Given the description of an element on the screen output the (x, y) to click on. 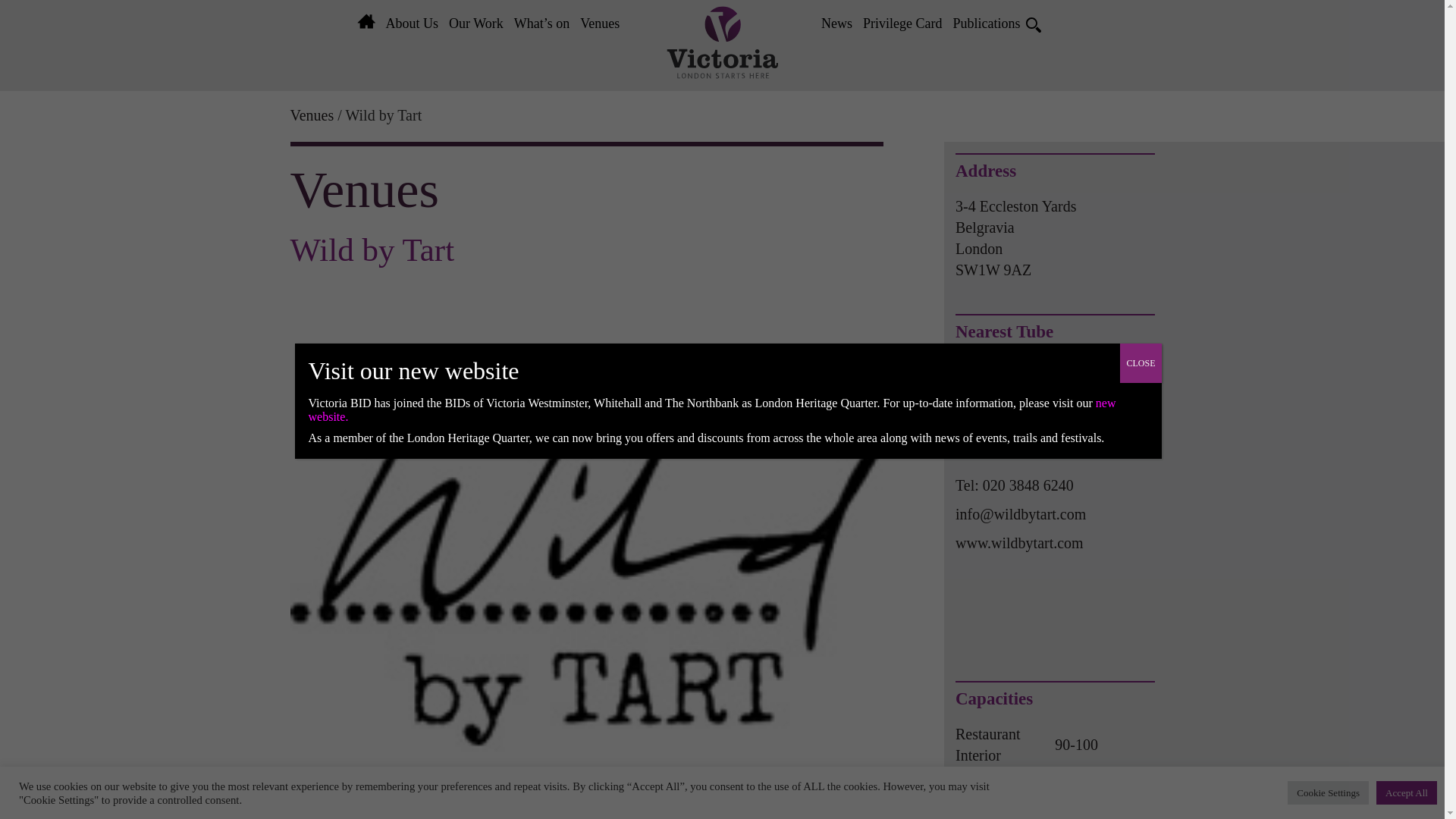
About Us (412, 23)
Our Work (476, 23)
